Given the description of an element on the screen output the (x, y) to click on. 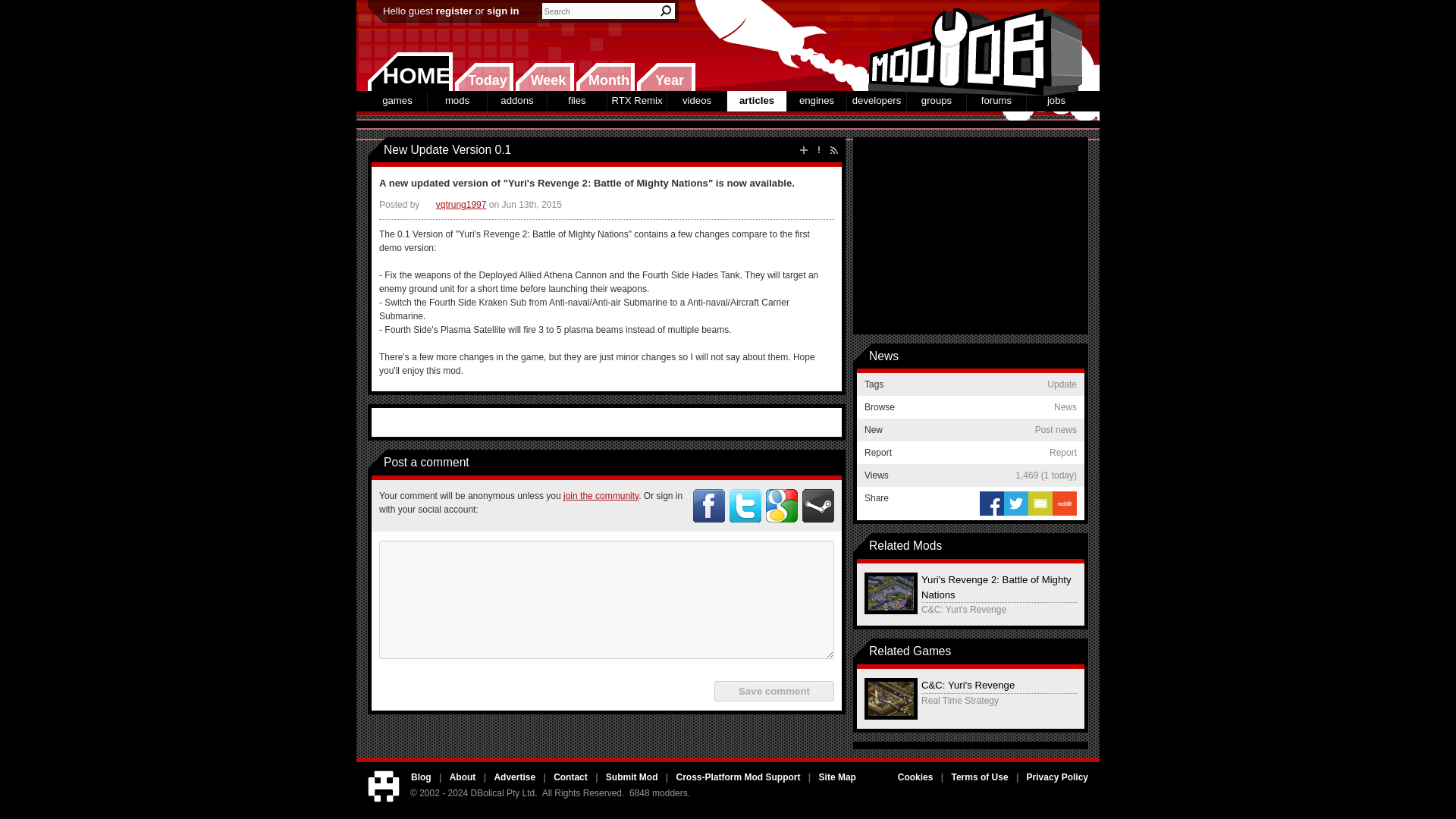
Click to connect via Facebook (709, 505)
Click to connect via Steam (818, 505)
New this month (605, 76)
Report (818, 150)
Post news (803, 150)
register (453, 10)
Article Manager (454, 204)
mods (457, 100)
Year (666, 76)
Click to connect via Twitter (745, 505)
videos (696, 100)
New this year (666, 76)
Week (545, 76)
New today (483, 76)
